Given the description of an element on the screen output the (x, y) to click on. 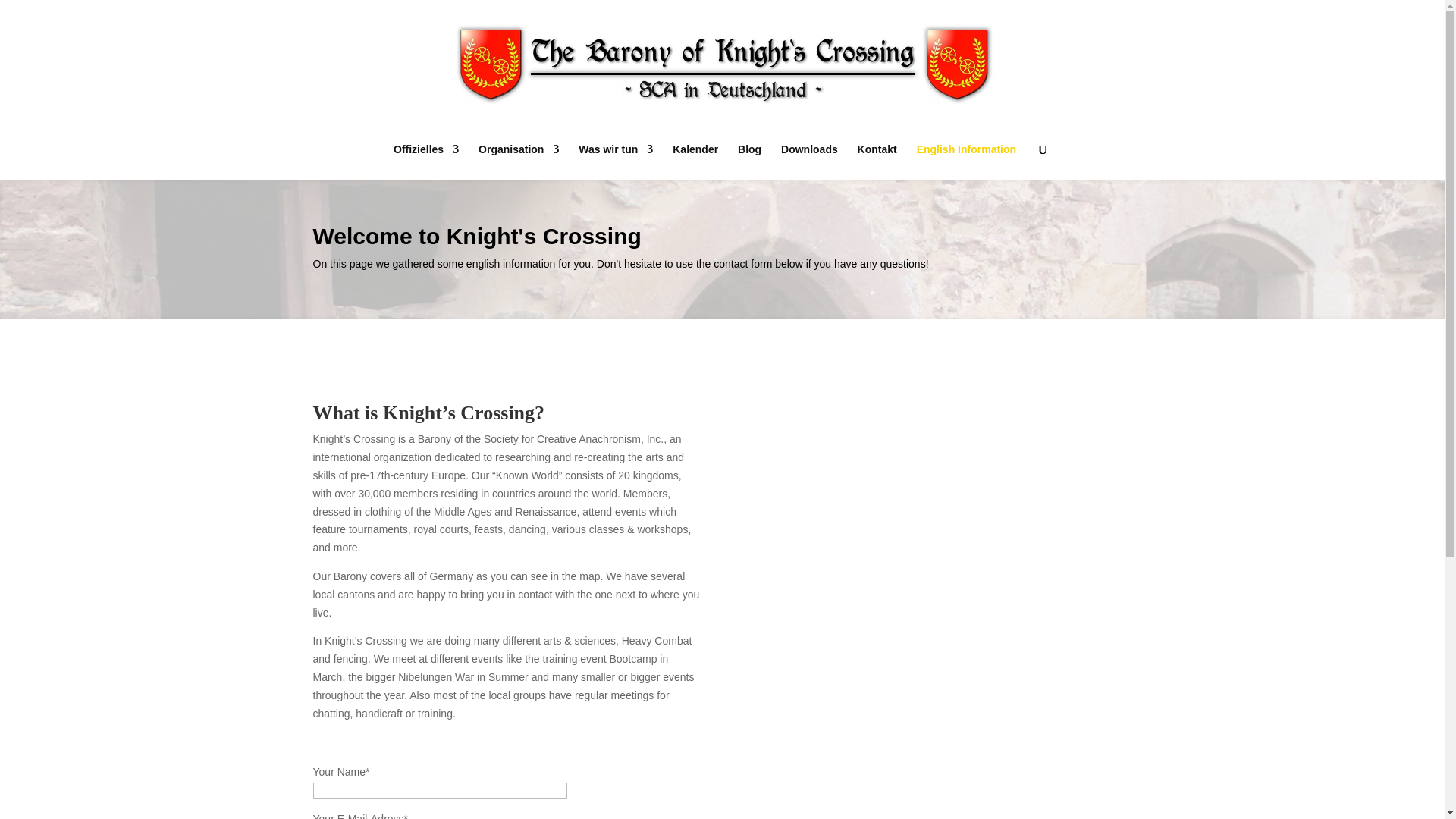
Was wir tun (615, 161)
Offizielles (425, 161)
English Information (966, 161)
Kalender (694, 161)
Downloads (809, 161)
Kontakt (876, 161)
Organisation (519, 161)
